Given the description of an element on the screen output the (x, y) to click on. 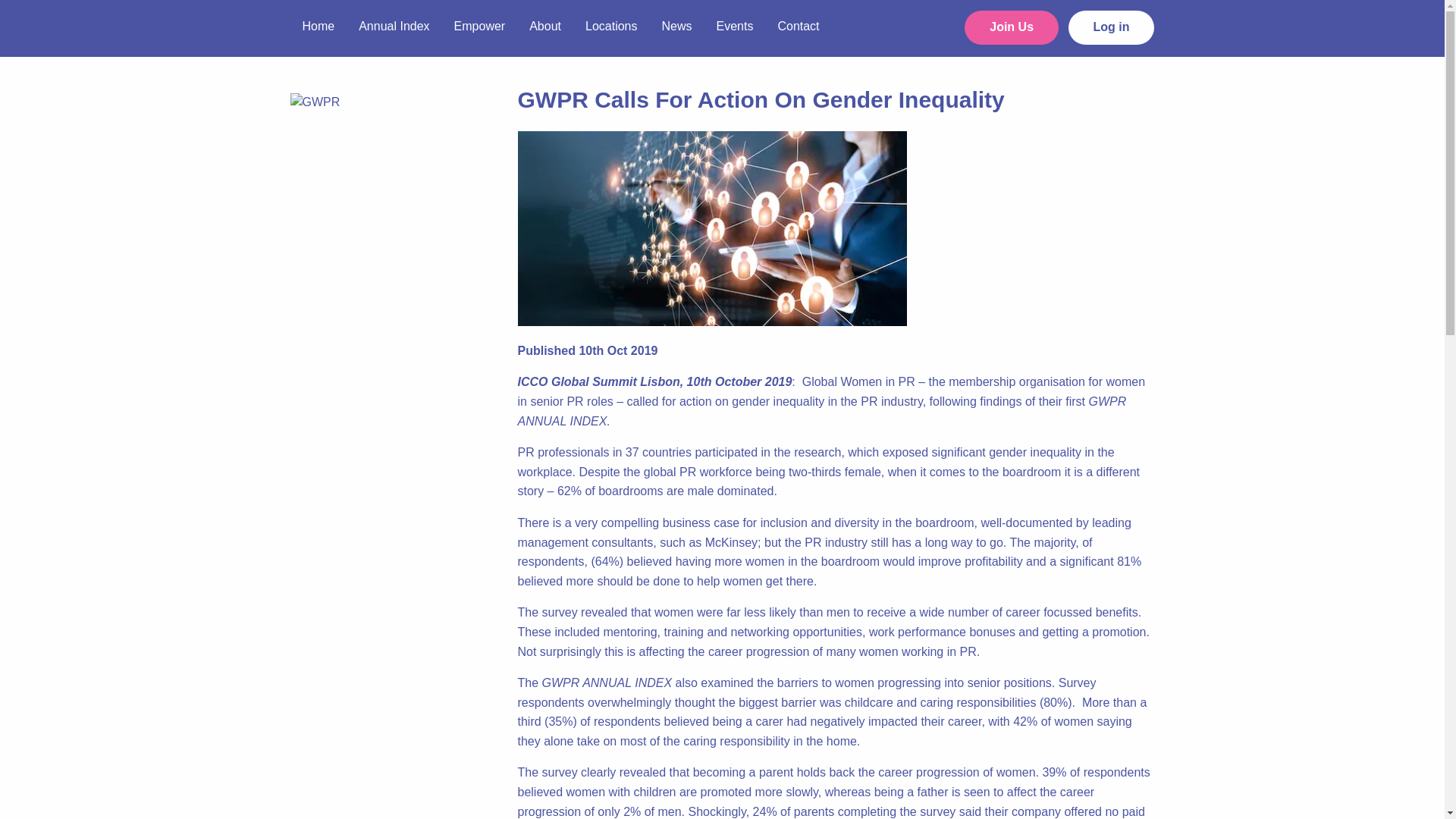
About (544, 24)
Annual Index (393, 24)
Empower (480, 24)
Home (317, 24)
